Given the description of an element on the screen output the (x, y) to click on. 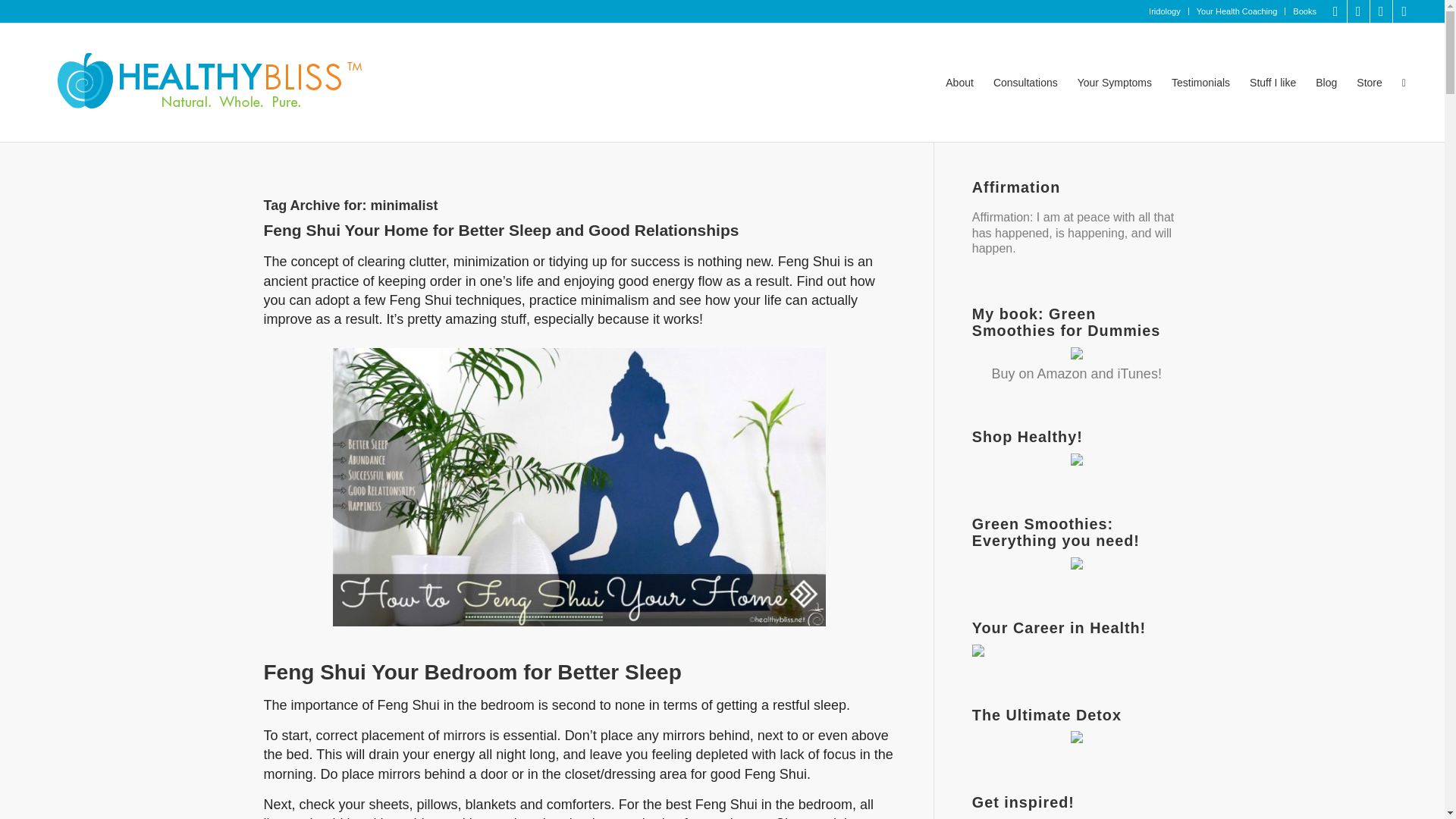
Books (1304, 11)
Home (199, 82)
Facebook (1359, 11)
Iridology (1164, 11)
Mail (1335, 11)
Your Health Coaching (1237, 11)
Feng Shui Your Home for Better Sleep and Good Relationships (501, 230)
Instagram (1380, 11)
Rss (1404, 11)
